Given the description of an element on the screen output the (x, y) to click on. 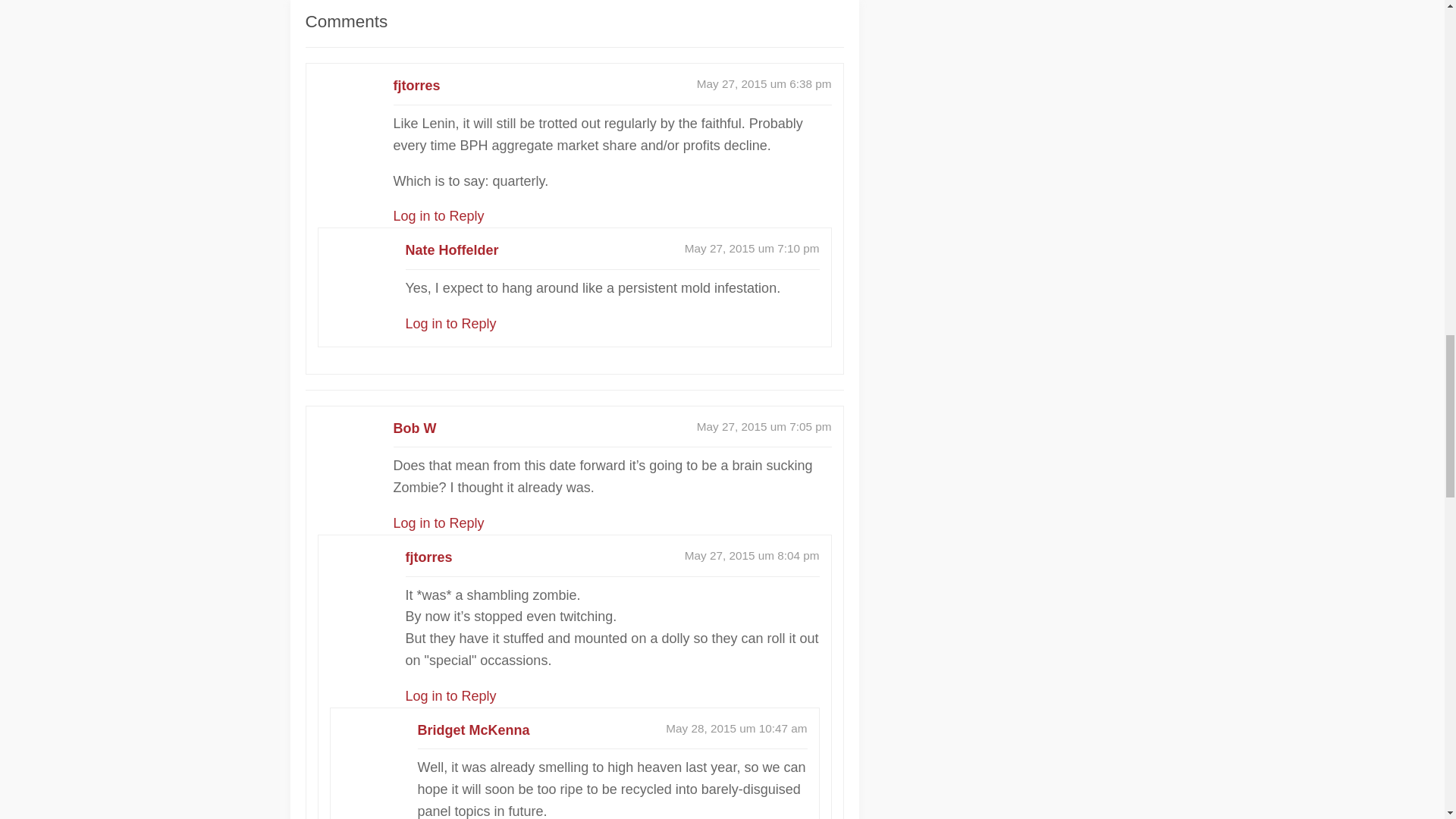
Log in to Reply (450, 323)
Log in to Reply (438, 522)
Log in to Reply (450, 695)
Log in to Reply (438, 215)
